Given the description of an element on the screen output the (x, y) to click on. 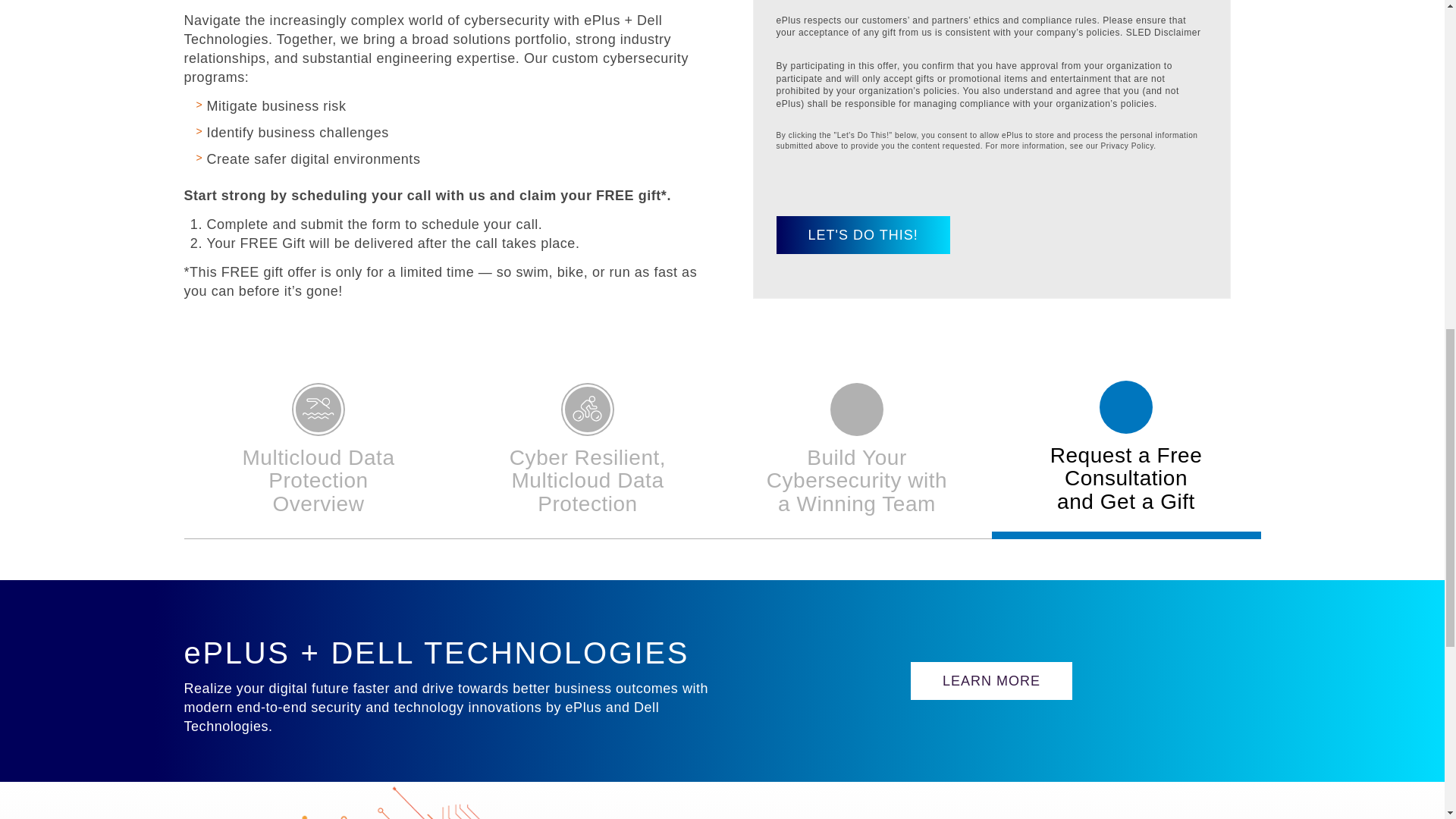
Multicloud Data Protection Overview (318, 449)
SLED Disclaimer (1163, 32)
Let's Do This! (863, 234)
Let's Do This! (863, 234)
LEARN MORE (991, 680)
Privacy Policy (1125, 447)
Build Your Cybersecurity with a Winning Team (1127, 145)
Cyber Resilient, Multicloud Data Protection (856, 449)
